Given the description of an element on the screen output the (x, y) to click on. 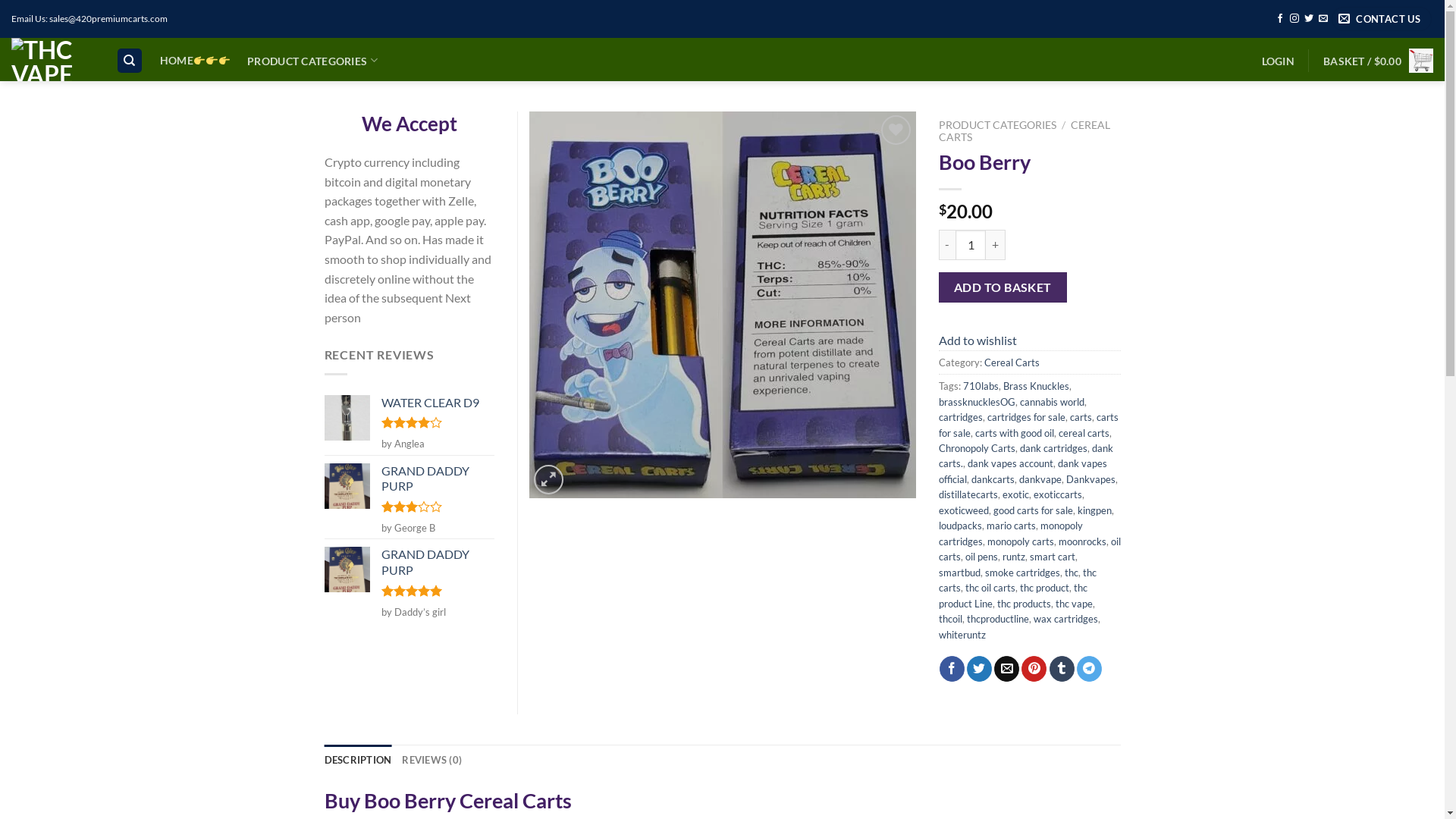
kingpen Element type: text (1093, 510)
Share on Tumblr Element type: hover (1061, 668)
PRODUCT CATEGORIES Element type: text (997, 125)
dankvape Element type: text (1040, 479)
WATER CLEAR D9 Element type: text (436, 403)
exotic Element type: text (1015, 494)
DESCRIPTION Element type: text (358, 759)
GRAND DADDY PURP Element type: text (436, 479)
whiteruntz Element type: text (961, 634)
monopoly cartridges Element type: text (1010, 532)
carts Element type: text (1080, 417)
thc vape Element type: text (1073, 603)
Send us an email Element type: hover (1322, 18)
GRAND DADDY PURP Element type: text (436, 562)
Dankvapes Element type: text (1090, 479)
cannabis world Element type: text (1051, 401)
thc product Element type: text (1043, 587)
dank vapes account Element type: text (1010, 463)
thcproductline Element type: text (997, 618)
dank cartridges Element type: text (1052, 448)
Share on Twitter Element type: hover (978, 668)
runtz Element type: text (1013, 556)
smart cart Element type: text (1052, 556)
good carts for sale Element type: text (1033, 510)
Zoom Element type: hover (548, 479)
smoke cartridges Element type: text (1021, 572)
smartbud Element type: text (959, 572)
cartridges Element type: text (960, 417)
thc oil carts Element type: text (989, 587)
oil carts Element type: text (1029, 548)
cereal carts Element type: text (1083, 432)
thc Element type: text (1071, 572)
Qty Element type: hover (970, 244)
REVIEWS (0) Element type: text (431, 759)
Pin on Pinterest Element type: hover (1033, 668)
exoticweed Element type: text (963, 510)
thc products Element type: text (1023, 603)
brassknucklesOG Element type: text (976, 401)
oil pens Element type: text (980, 556)
Chronopoly Carts Element type: text (976, 448)
Share on Telegram Element type: hover (1088, 668)
carts with good oil Element type: text (1014, 432)
distillatecarts Element type: text (967, 494)
Follow on Instagram Element type: hover (1294, 18)
HOME Element type: text (195, 60)
BASKET / $0.00 Element type: text (1378, 60)
exoticcarts Element type: text (1056, 494)
dank vapes official Element type: text (1022, 470)
mario carts Element type: text (1010, 525)
thcoil Element type: text (950, 618)
dank carts. Element type: text (1025, 455)
710labs Element type: text (980, 385)
Follow on Facebook Element type: hover (1279, 18)
dankcarts Element type: text (991, 479)
Add to wishlist Element type: text (977, 339)
wax cartridges Element type: text (1064, 618)
CONTACT US Element type: text (1381, 18)
PRODUCT CATEGORIES Element type: text (312, 60)
moonrocks Element type: text (1082, 541)
Brass Knuckles Element type: text (1035, 385)
CEREAL CARTS Element type: text (1024, 131)
carts for sale Element type: text (1028, 424)
Cereal Carts Element type: text (1011, 362)
loudpacks Element type: text (960, 525)
thc carts Element type: text (1017, 579)
cartridges for sale Element type: text (1026, 417)
Follow on Twitter Element type: hover (1308, 18)
Email to a Friend Element type: hover (1006, 668)
monopoly carts Element type: text (1020, 541)
LOGIN Element type: text (1277, 60)
ADD TO BASKET Element type: text (1002, 287)
Share on Facebook Element type: hover (951, 668)
thc product Line Element type: text (1012, 594)
